Given the description of an element on the screen output the (x, y) to click on. 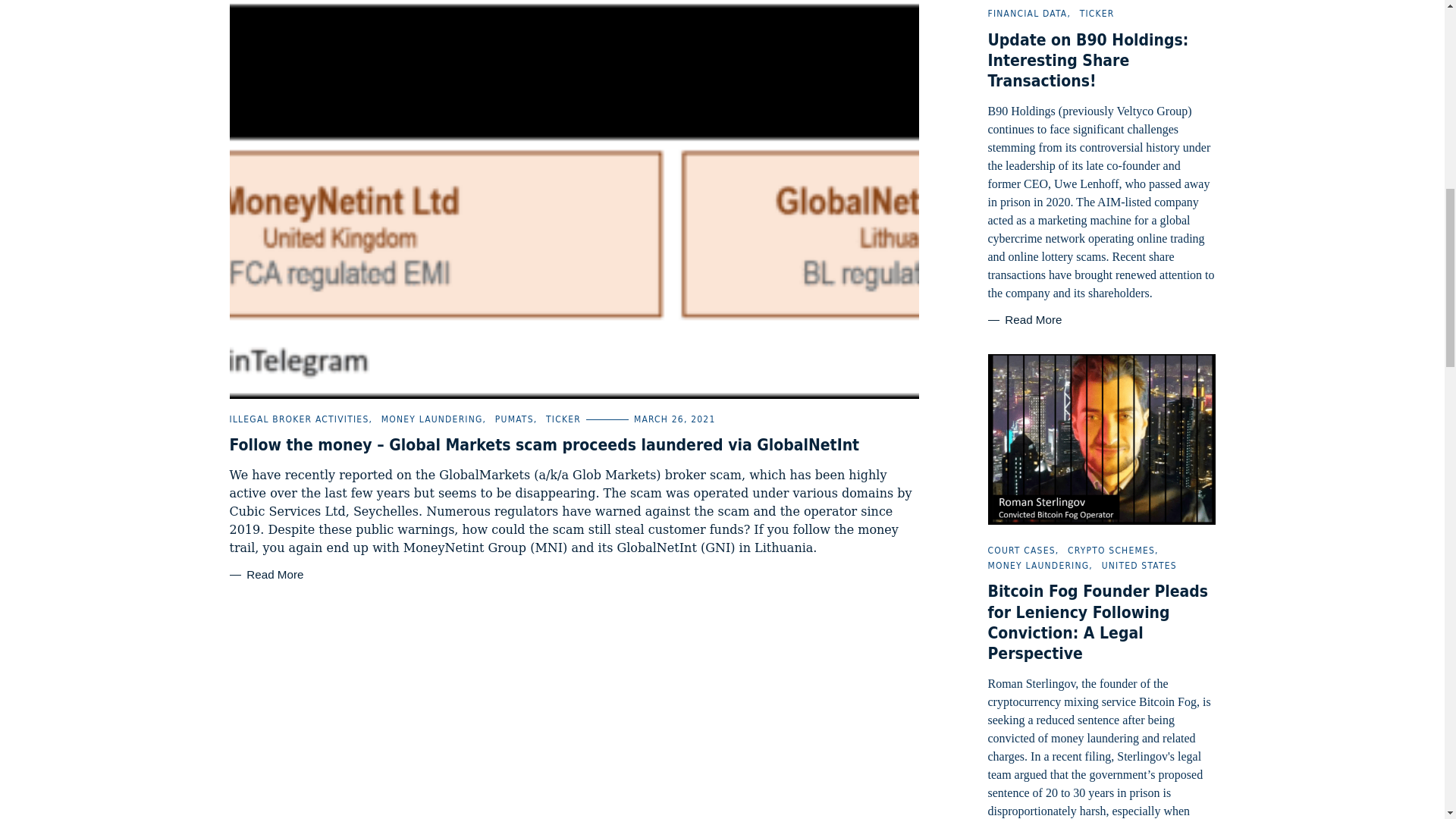
Read More (265, 574)
COURT CASES (1020, 550)
TICKER (1097, 13)
TICKER (563, 419)
CRYPTO SCHEMES (1110, 550)
PUMATS (514, 419)
ILLEGAL BROKER ACTIVITIES (298, 419)
UNITED STATES (1139, 565)
MONEY LAUNDERING (1038, 565)
MONEY LAUNDERING (432, 419)
